Given the description of an element on the screen output the (x, y) to click on. 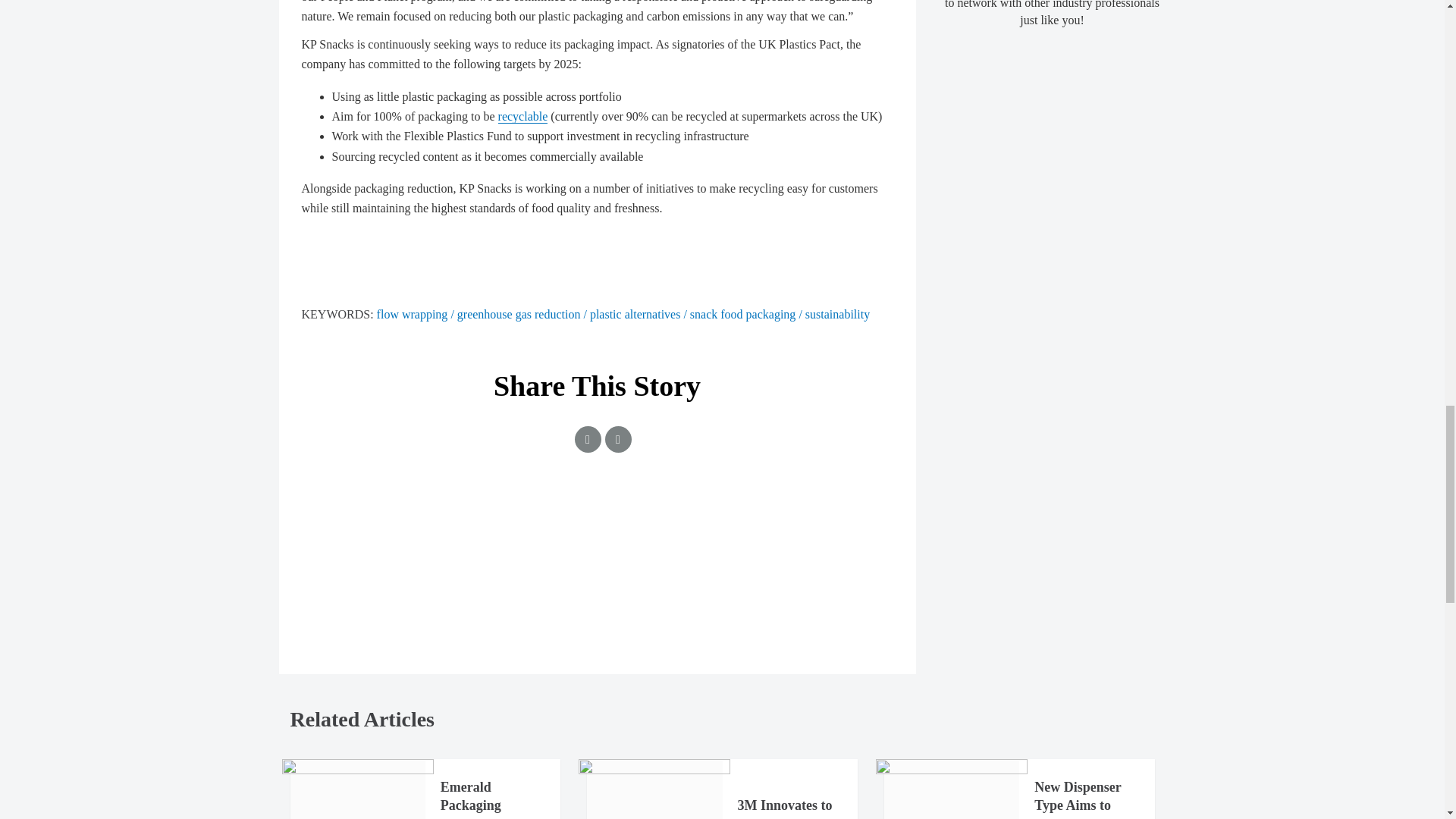
recyclable (522, 116)
flow wrapping (417, 314)
plastic alternatives (639, 314)
Interaction questions (597, 558)
snack food packaging (747, 314)
greenhouse gas reduction (523, 314)
